Given the description of an element on the screen output the (x, y) to click on. 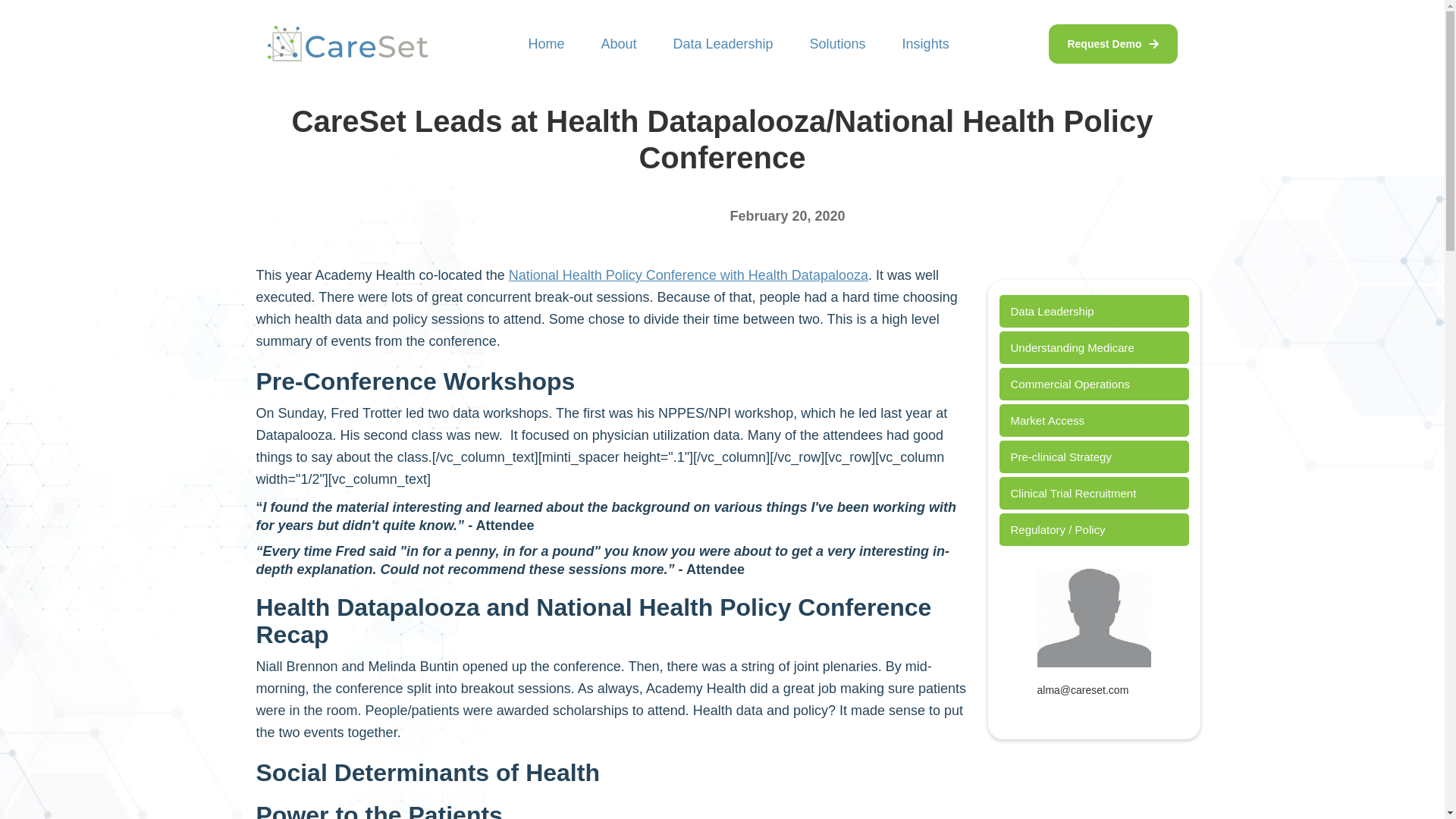
National Health Policy Conference with Health Datapalooza (687, 274)
Pre-clinical Strategy (1093, 456)
Data Leadership (722, 43)
About (617, 43)
Request Demo (1112, 43)
Data Leadership (1093, 310)
Solutions (837, 43)
Insights (925, 43)
Understanding Medicare (1093, 347)
Home (545, 43)
Clinical Trial Recruitment (1093, 492)
Market Access (1093, 420)
Commercial Operations (1093, 383)
